Given the description of an element on the screen output the (x, y) to click on. 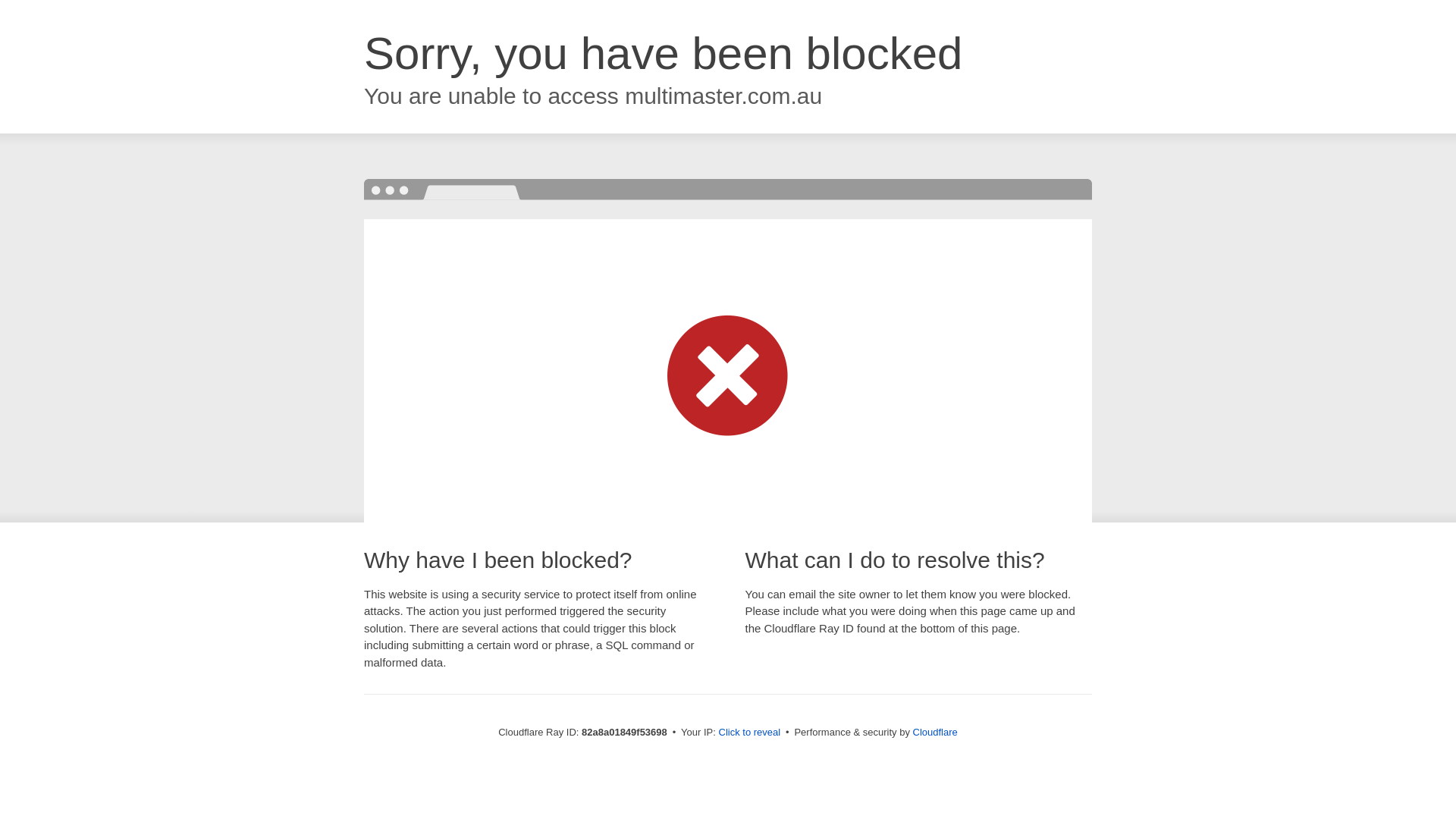
Cloudflare Element type: text (935, 731)
Click to reveal Element type: text (749, 732)
